Given the description of an element on the screen output the (x, y) to click on. 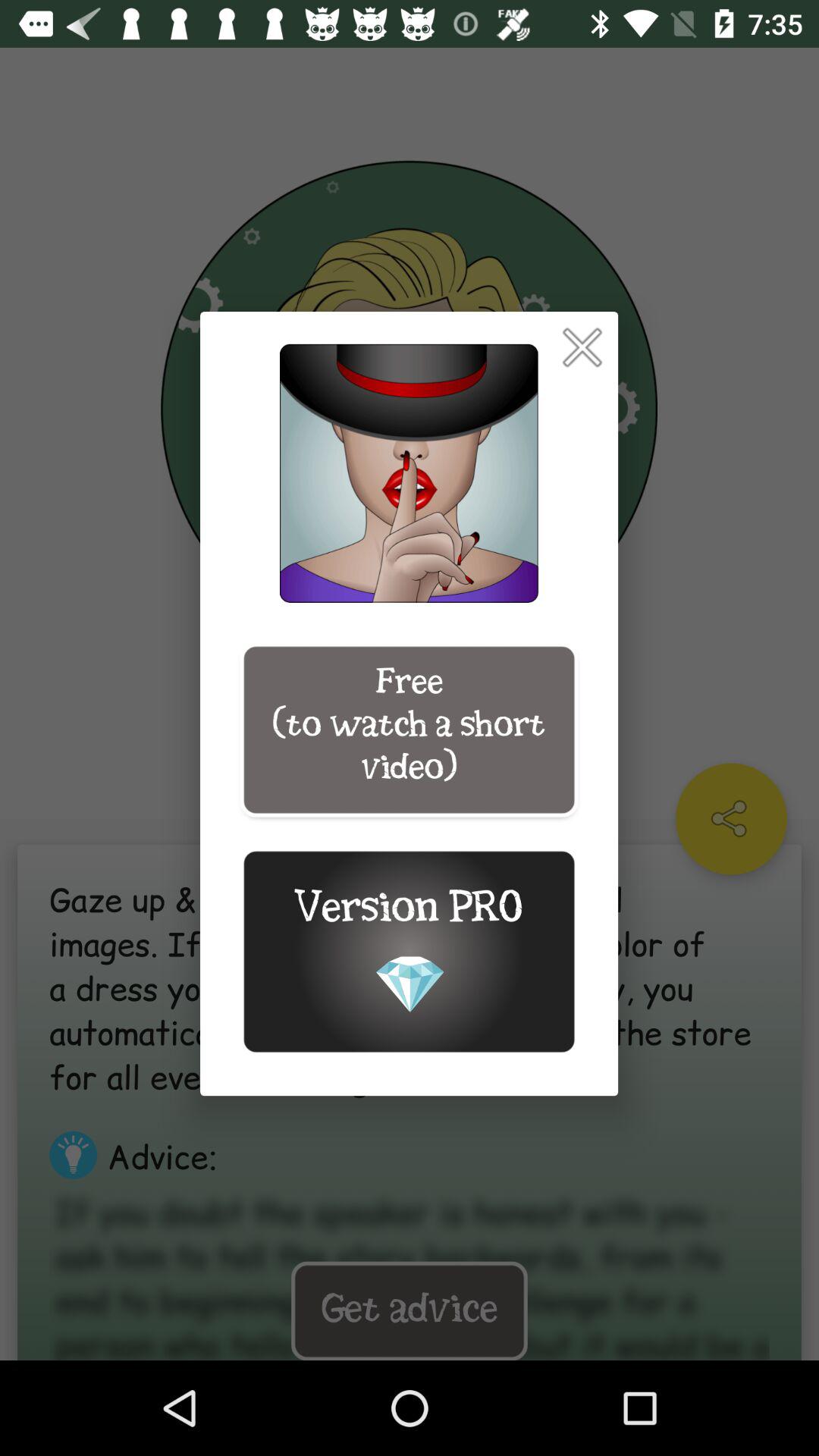
select the icon at the top right corner (582, 347)
